Given the description of an element on the screen output the (x, y) to click on. 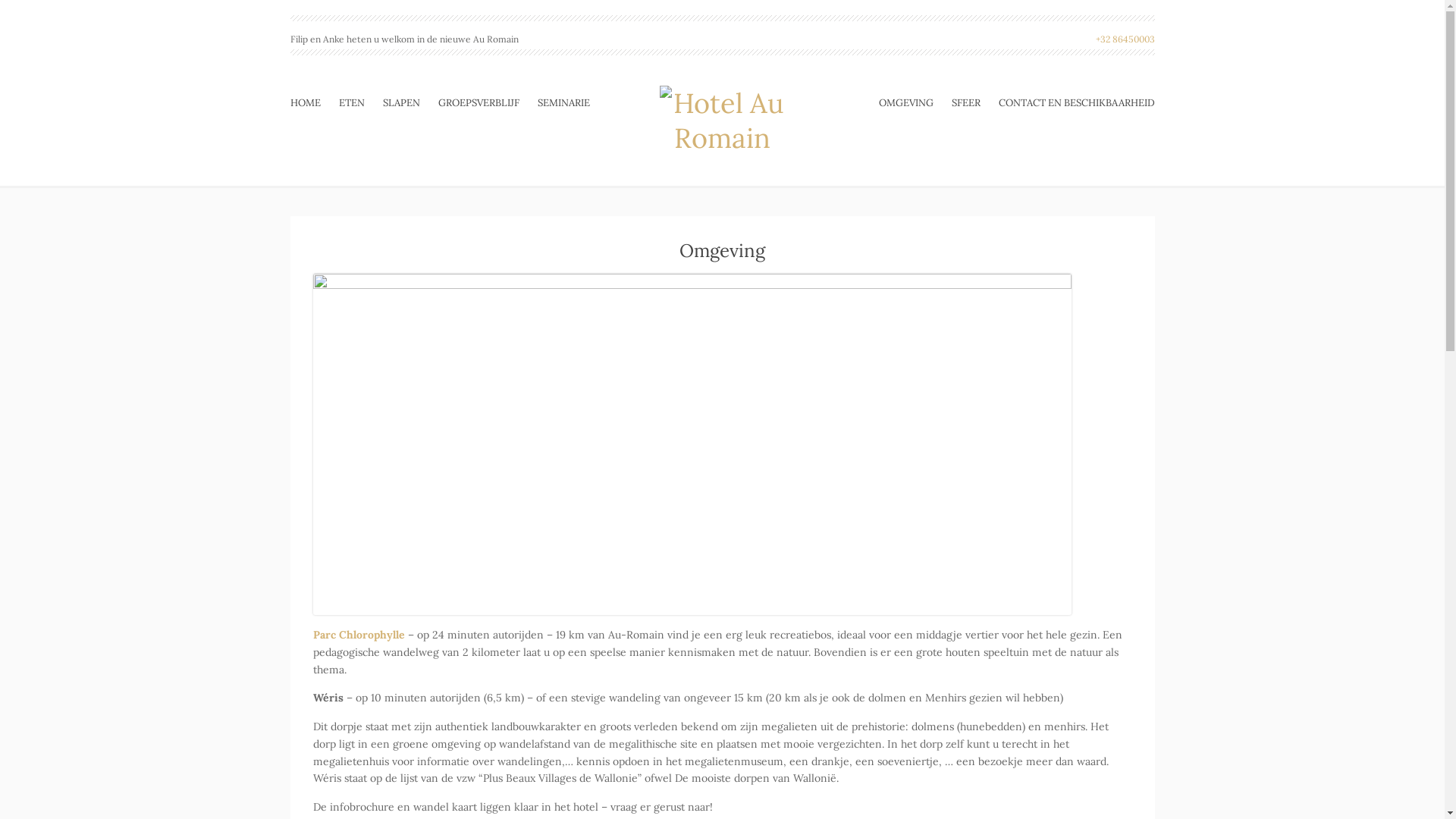
OMGEVING Element type: text (909, 102)
GROEPSVERBLIJF Element type: text (478, 102)
SFEER Element type: text (964, 102)
Parc Chlorophylle Element type: text (358, 634)
SLAPEN Element type: text (400, 102)
ETEN Element type: text (351, 102)
SEMINARIE Element type: text (558, 102)
+32 86450003 Element type: text (1124, 38)
CONTACT EN BESCHIKBAARHEID Element type: text (1071, 102)
HOME Element type: text (309, 102)
